Given the description of an element on the screen output the (x, y) to click on. 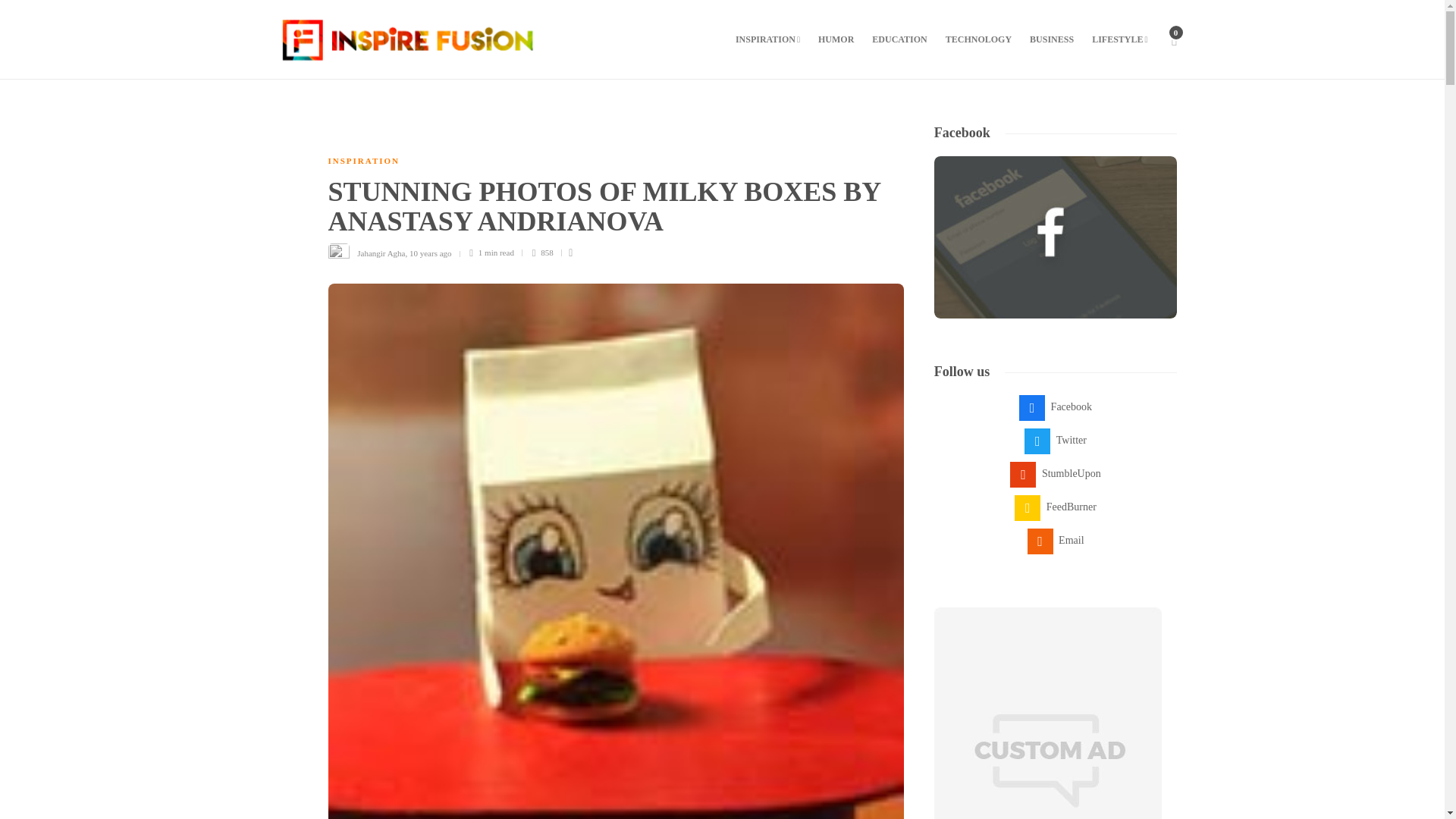
LIFESTYLE (1119, 38)
Jahangir Agha (380, 252)
TECHNOLOGY (977, 38)
10 years ago (430, 252)
EDUCATION (899, 38)
INSPIRATION (362, 160)
STUNNING PHOTOS OF MILKY BOXES BY ANASTASY ANDRIANOVA  (603, 210)
INSPIRATION (767, 38)
